Given the description of an element on the screen output the (x, y) to click on. 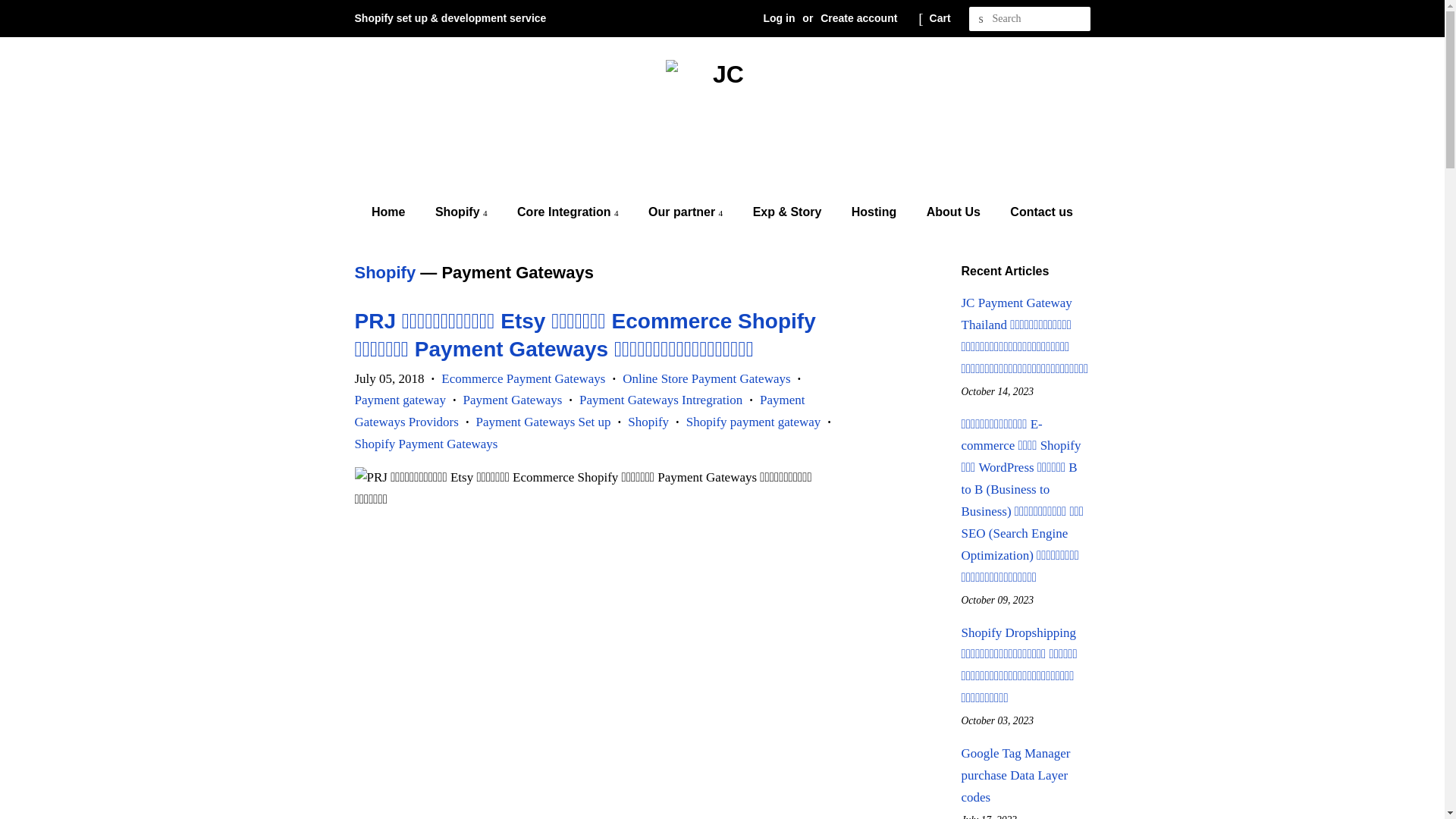
Shopify Element type: text (385, 272)
Shopify Payment Gateways Element type: text (426, 443)
Ecommerce Payment Gateways Element type: text (523, 378)
Create account Element type: text (858, 18)
Shopify Element type: text (462, 211)
Payment Gateways Providors Element type: text (579, 410)
Home Element type: text (395, 211)
Google Tag Manager purchase Data Layer codes Element type: text (1015, 775)
Online Store Payment Gateways Element type: text (706, 378)
Payment Gateways Intregration Element type: text (660, 399)
Core Integration Element type: text (569, 211)
Payment gateway Element type: text (399, 399)
Our partner Element type: text (687, 211)
Exp & Story Element type: text (789, 211)
Hosting Element type: text (876, 211)
Shopify payment gateway Element type: text (753, 421)
Contact us Element type: text (1035, 211)
Cart Element type: text (939, 18)
Shopify Element type: text (647, 421)
About Us Element type: text (955, 211)
Search Element type: text (981, 18)
Payment Gateways Element type: text (512, 399)
Payment Gateways Set up Element type: text (543, 421)
Log in Element type: text (778, 18)
